Given the description of an element on the screen output the (x, y) to click on. 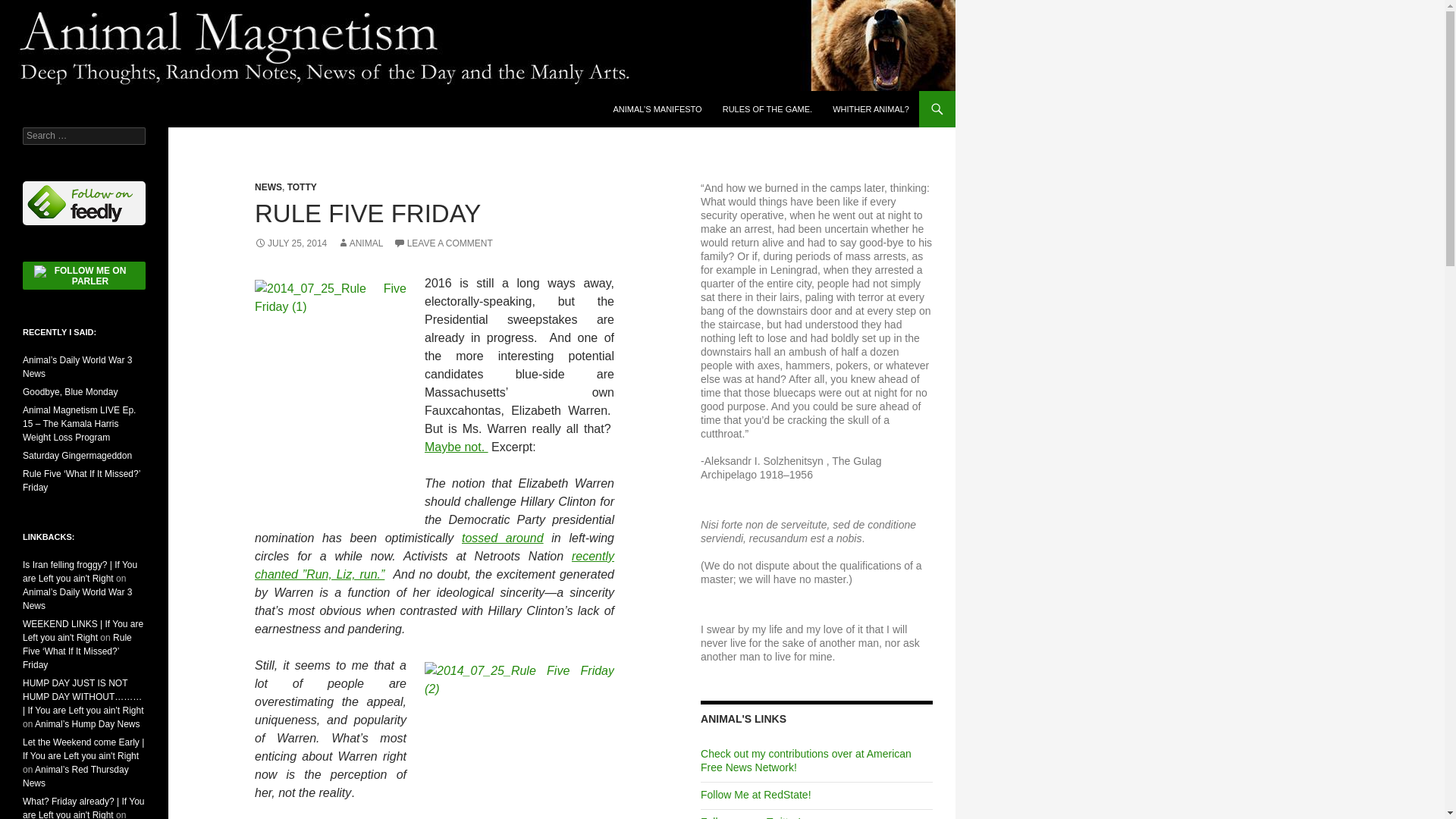
Follow Me at RedState! (755, 794)
NEWS (268, 186)
ANIMAL (360, 243)
RULES OF THE GAME. (767, 108)
Follow me on Twitter! (750, 817)
Maybe not.  (456, 446)
WHITHER ANIMAL? (871, 108)
TOTTY (301, 186)
JULY 25, 2014 (290, 243)
